Given the description of an element on the screen output the (x, y) to click on. 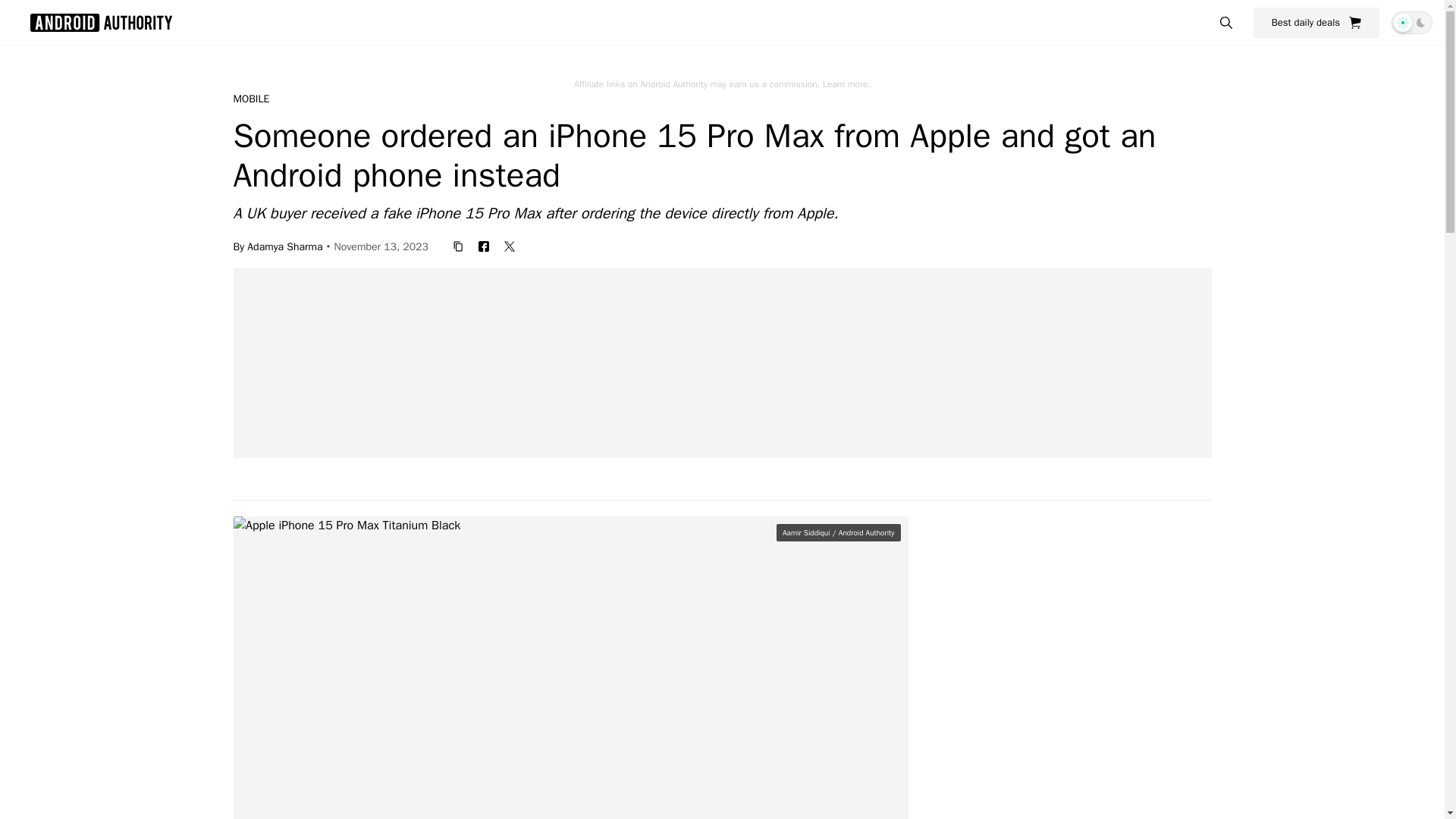
facebook (483, 246)
Learn more. (846, 83)
MOBILE (250, 98)
twitter (509, 246)
Best daily deals (1315, 22)
Adamya Sharma (284, 245)
